Given the description of an element on the screen output the (x, y) to click on. 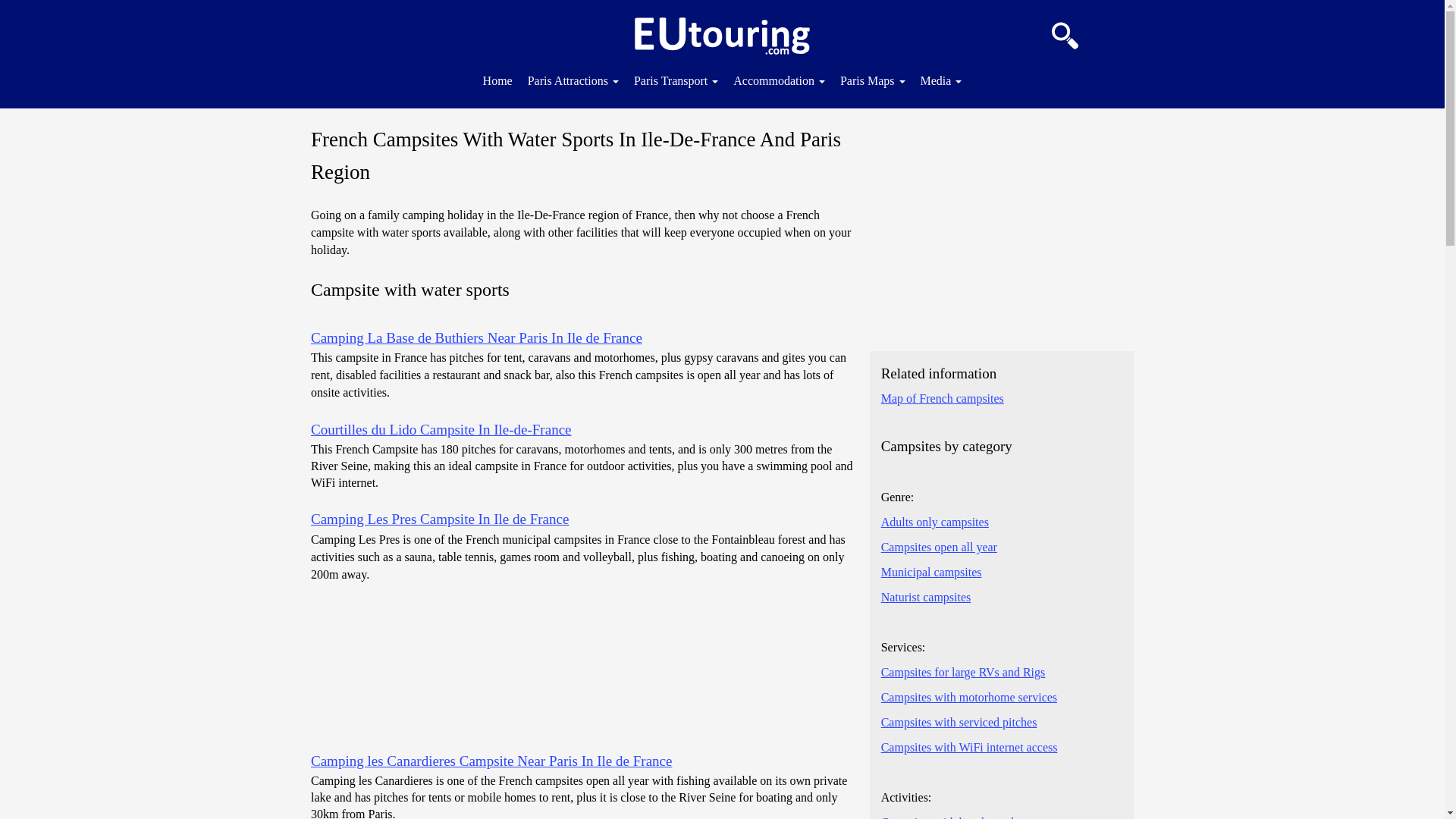
Paris Transport (675, 78)
Paris Attractions (572, 78)
EUtouring.com Home Page (721, 35)
Advertisement (1001, 229)
Home (497, 78)
Advertisement (582, 666)
EUtouring.com Website Search (1064, 32)
